Given the description of an element on the screen output the (x, y) to click on. 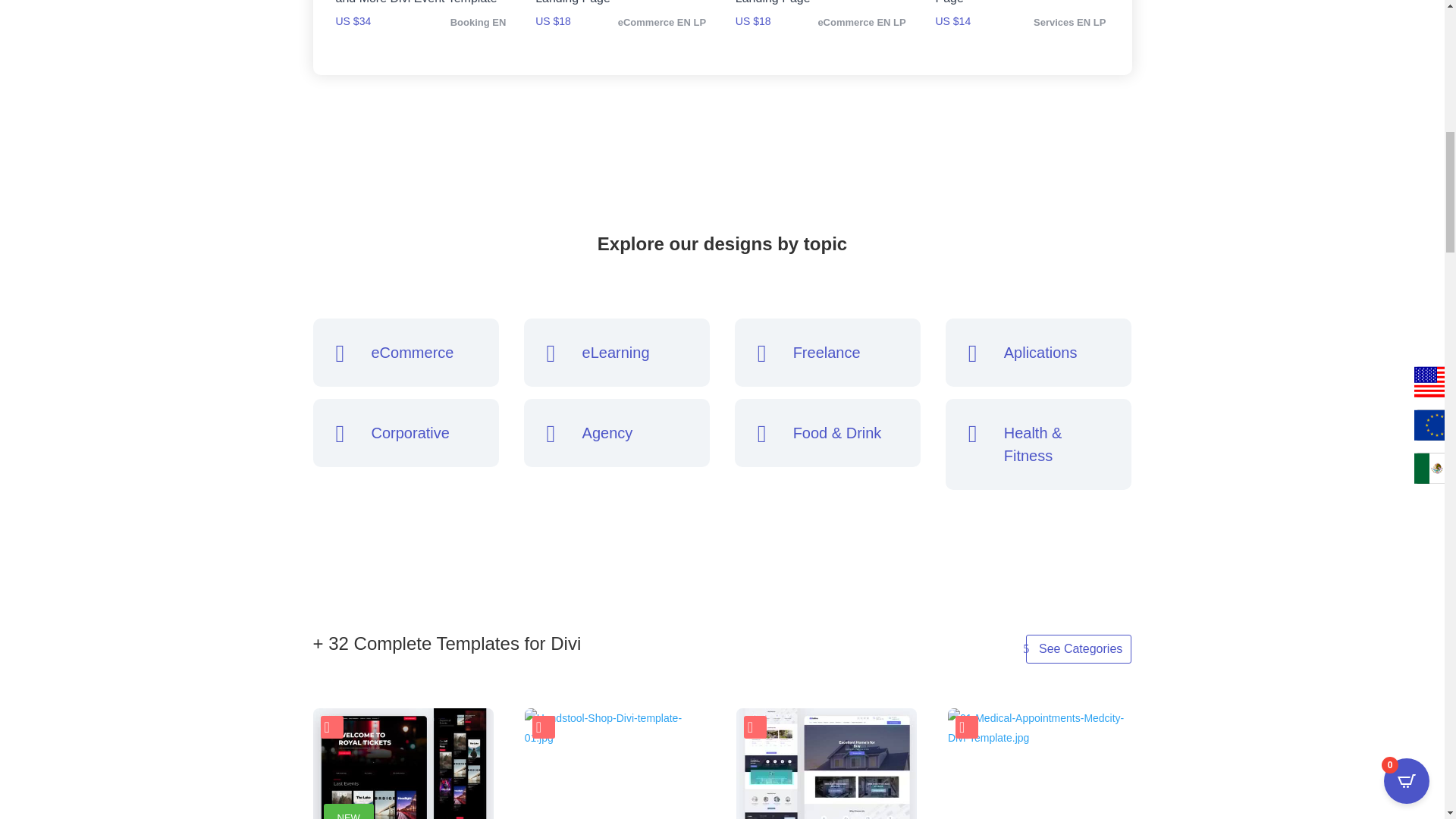
Booking EN (477, 21)
eCommerce EN LP (860, 21)
eCommerce EN LP (661, 21)
Restaurant Chic Divi Landing Page (1019, 5)
Urban Events Festivals Theater and More Divi Event Template (419, 5)
Retail Pro Marketplace Divi Landing Page (620, 5)
Tech Product Marketplace Divi Landing Page (820, 5)
